Given the description of an element on the screen output the (x, y) to click on. 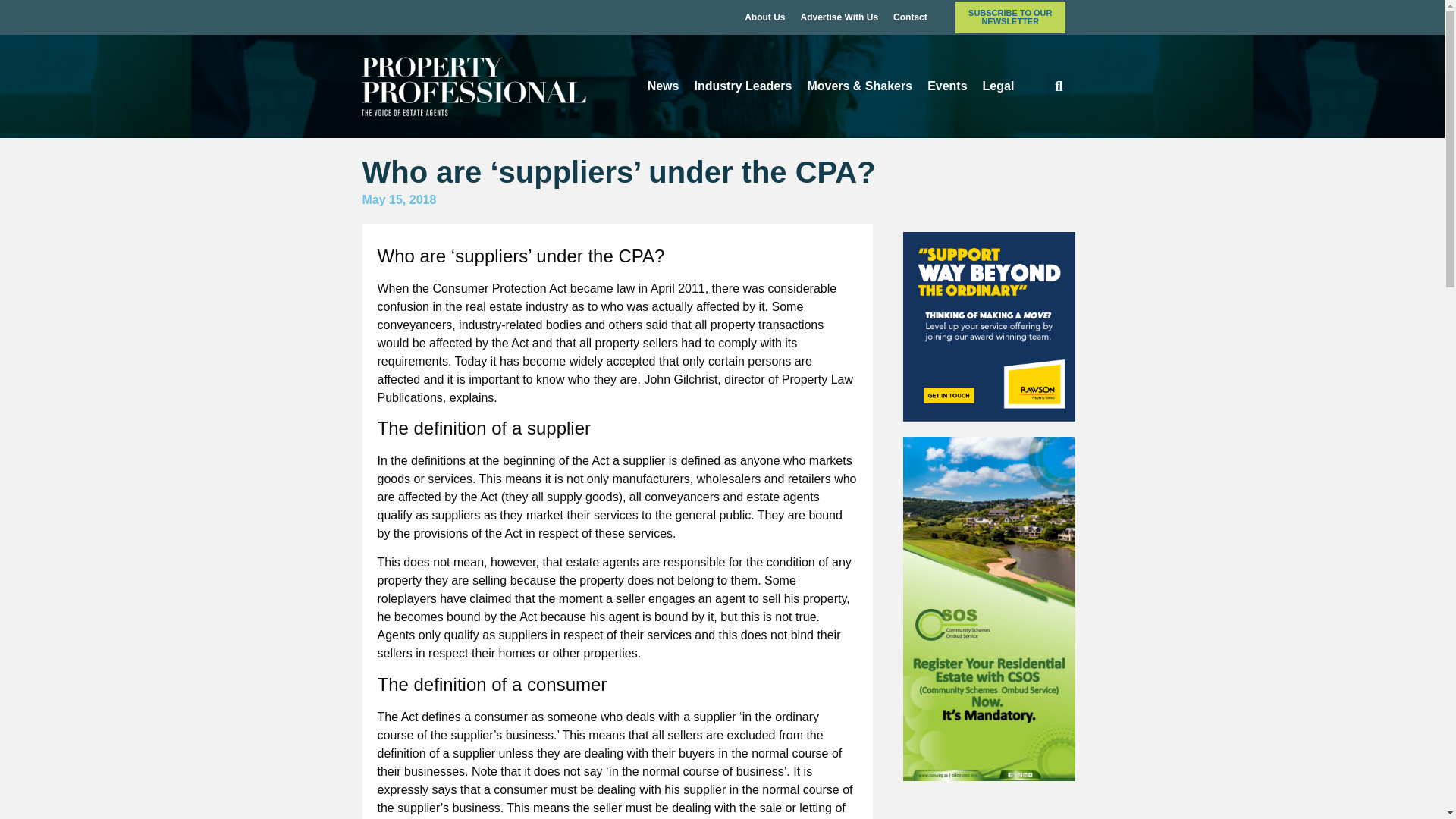
Events (947, 86)
Legal (998, 86)
News (663, 86)
About Us (764, 17)
Industry Leaders (742, 86)
Contact (909, 17)
Advertise With Us (838, 17)
May 15, 2018 (399, 199)
SUBSCRIBE TO OUR NEWSLETTER (1010, 17)
